Given the description of an element on the screen output the (x, y) to click on. 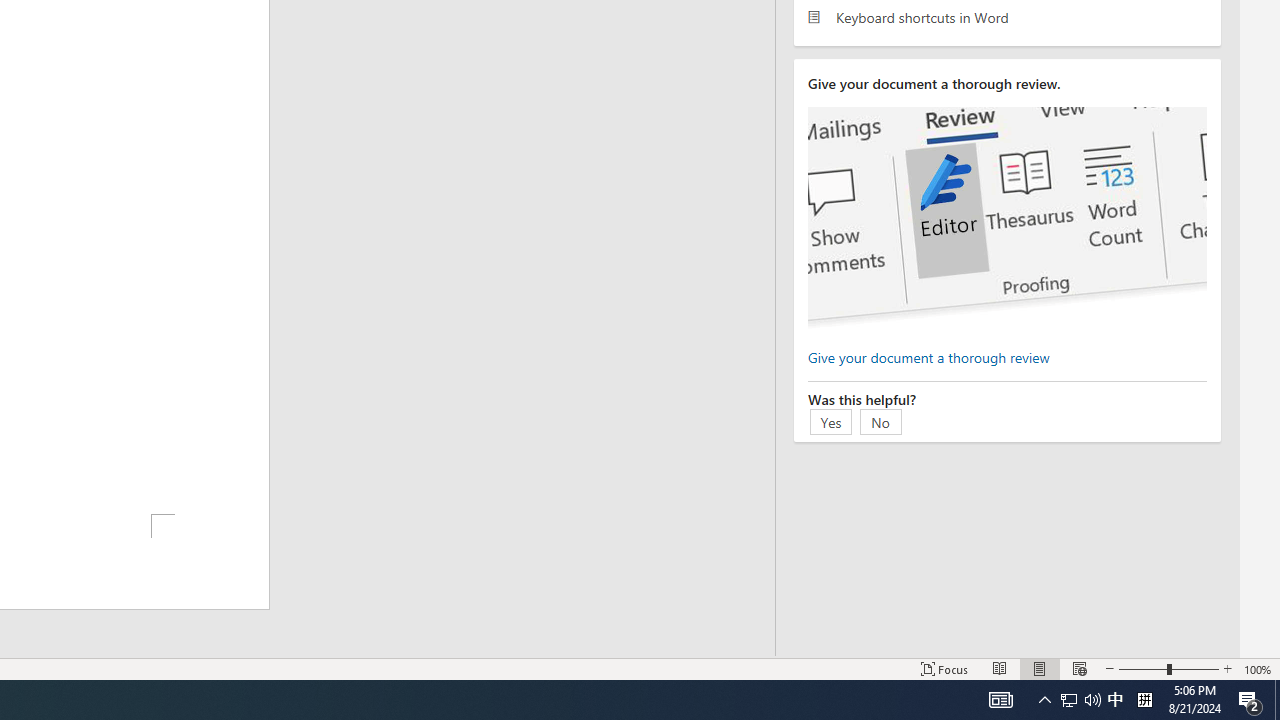
Yes (831, 421)
No (881, 421)
Zoom 100% (1258, 668)
Keyboard shortcuts in Word (1007, 16)
Zoom (1168, 668)
Give your document a thorough review (928, 356)
editor ui screenshot (1007, 218)
